Given the description of an element on the screen output the (x, y) to click on. 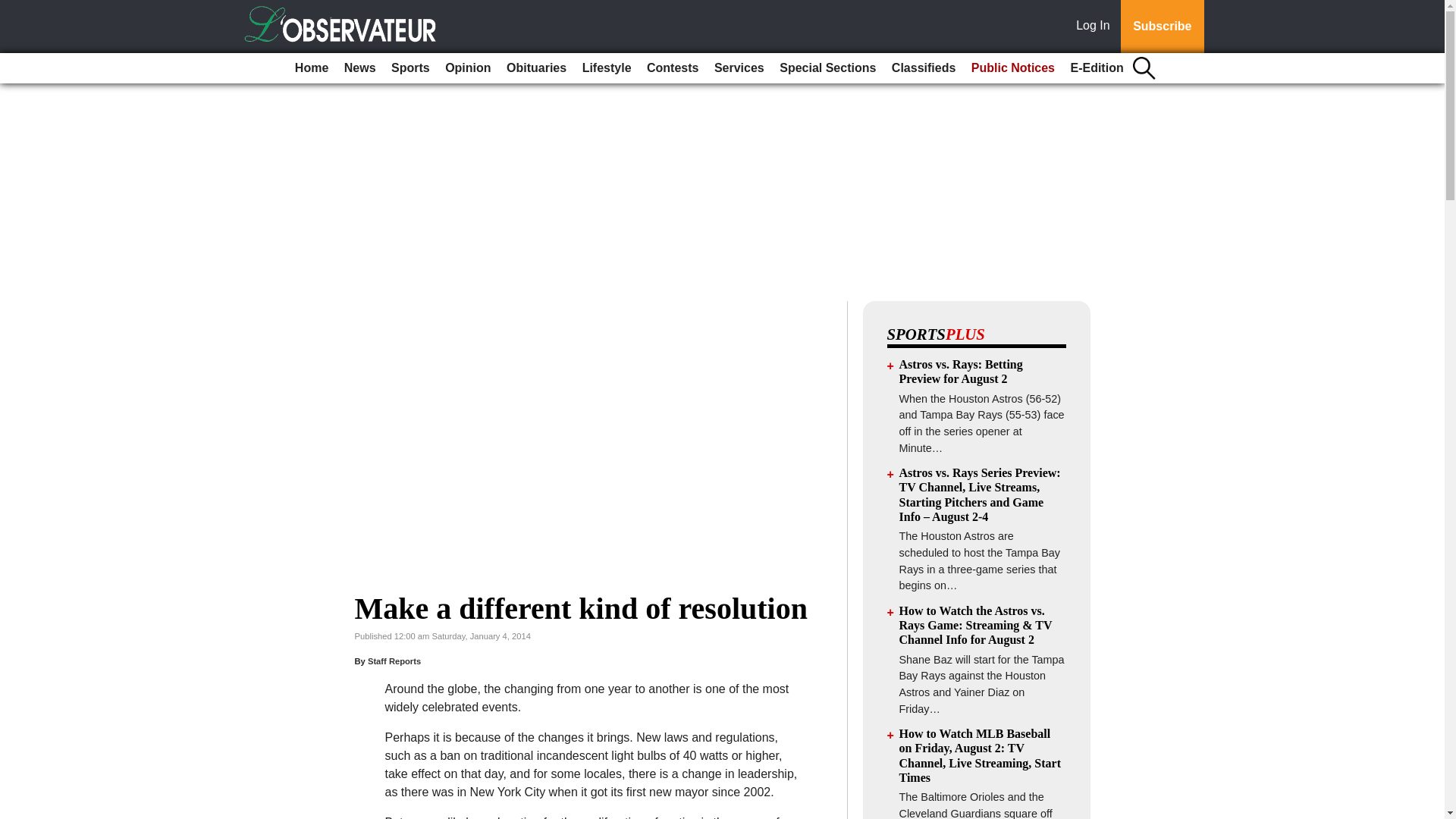
Home (311, 68)
News (359, 68)
Staff Reports (394, 660)
Lifestyle (606, 68)
Log In (1095, 26)
Classifieds (922, 68)
Subscribe (1162, 26)
Public Notices (1013, 68)
Services (738, 68)
Astros vs. Rays: Betting Preview for August 2 (961, 370)
Special Sections (827, 68)
Obituaries (536, 68)
E-Edition (1096, 68)
Go (13, 9)
